Given the description of an element on the screen output the (x, y) to click on. 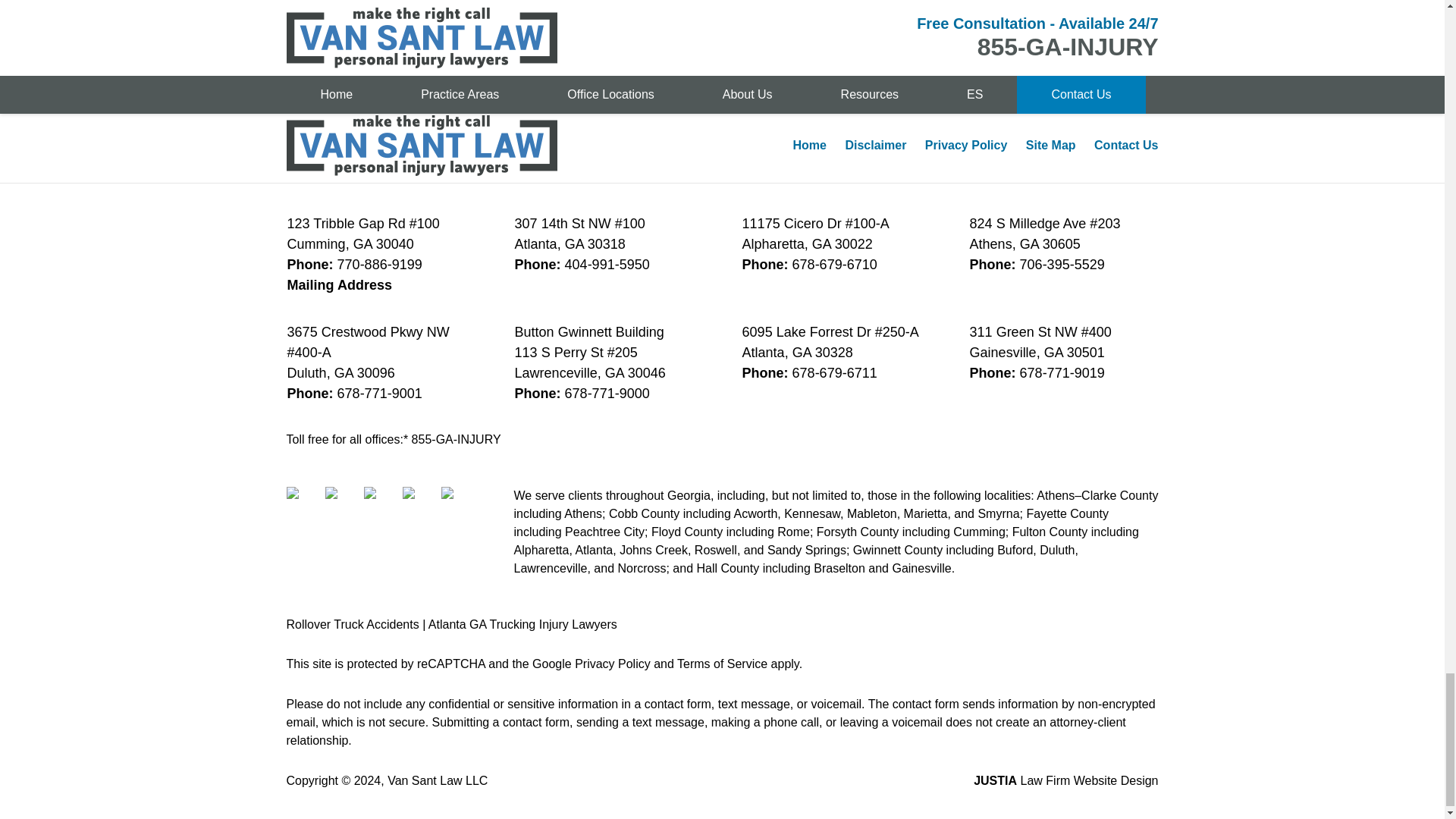
Facebook (303, 503)
Justia (418, 503)
YouTube (458, 503)
Twitter (341, 503)
LinkedIn (381, 503)
